Given the description of an element on the screen output the (x, y) to click on. 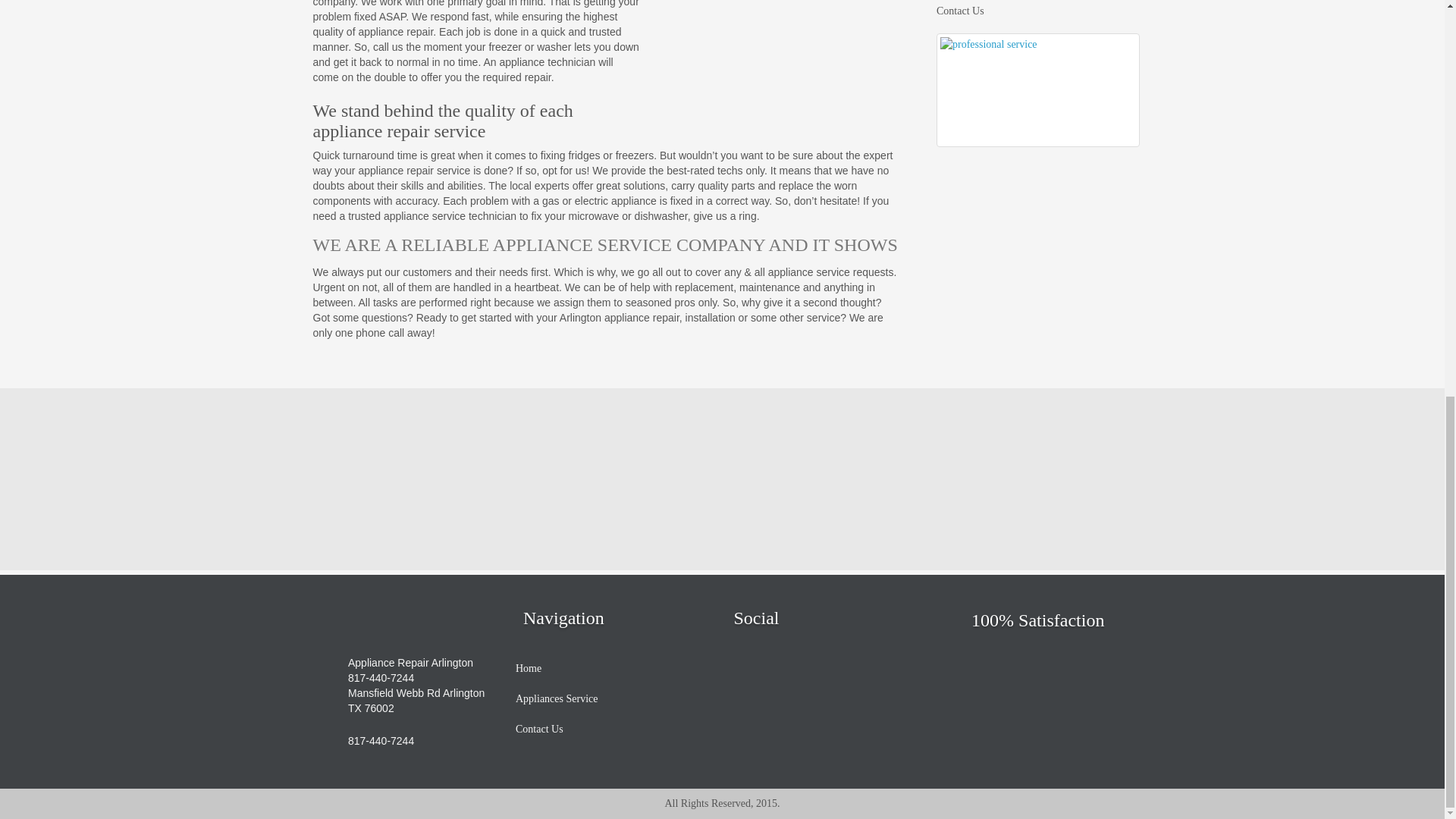
Contact Us (539, 729)
Contact Us (960, 13)
Appliances Service (555, 698)
